Given the description of an element on the screen output the (x, y) to click on. 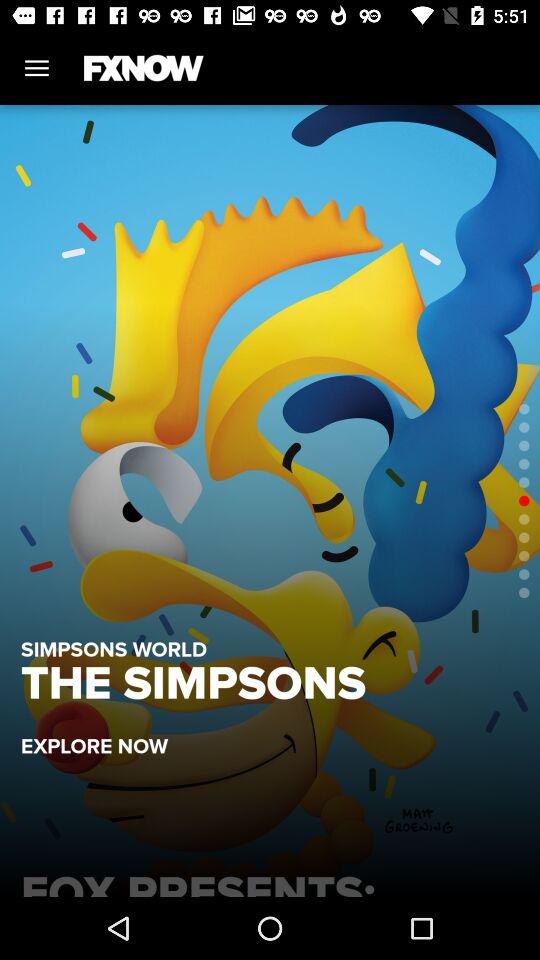
choose item above fox presents: pitch (104, 735)
